Given the description of an element on the screen output the (x, y) to click on. 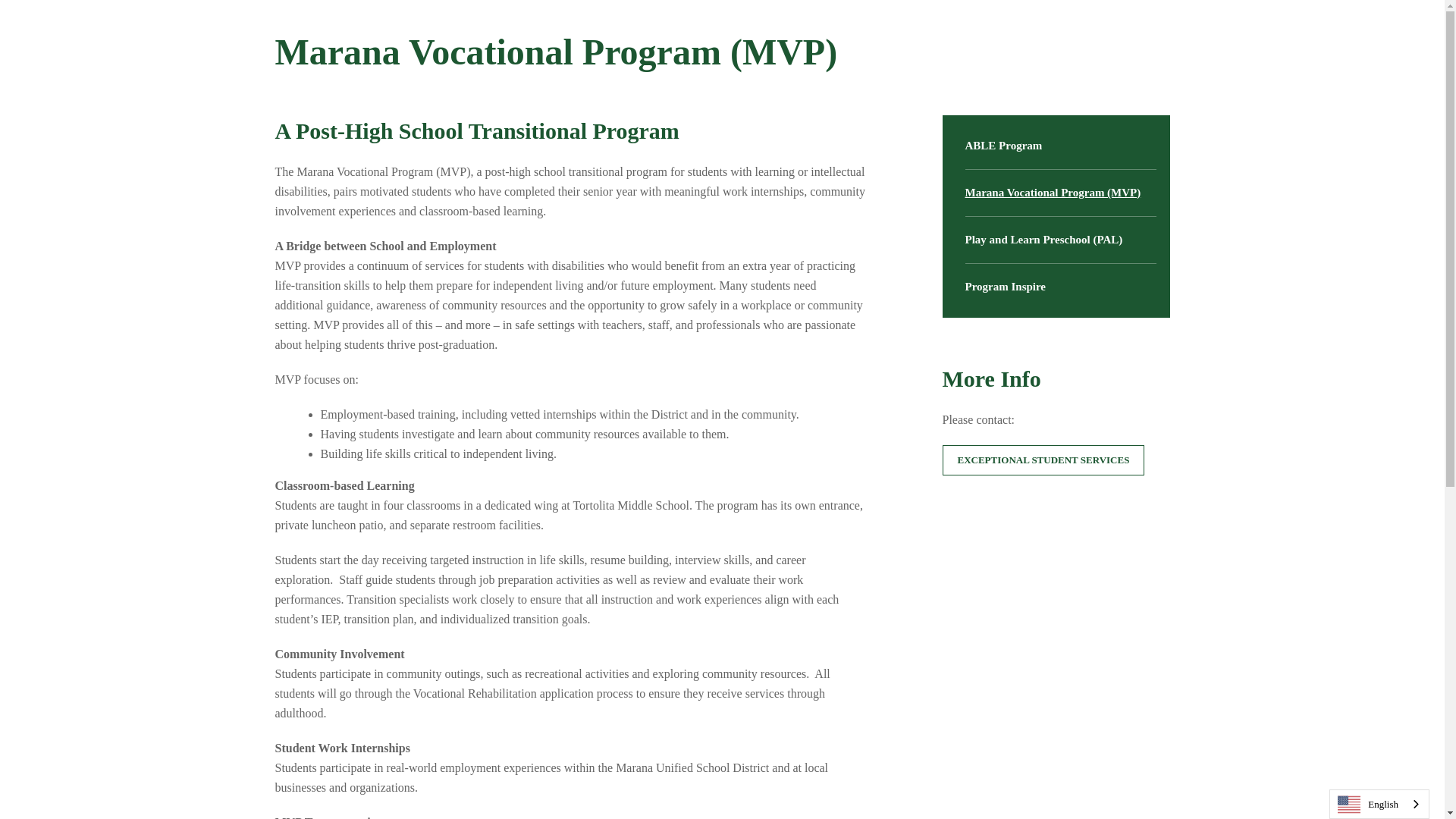
Program Inspire (1059, 286)
ABLE Program (1059, 145)
EXCEPTIONAL STUDENT SERVICES (1043, 459)
English (1379, 804)
